Given the description of an element on the screen output the (x, y) to click on. 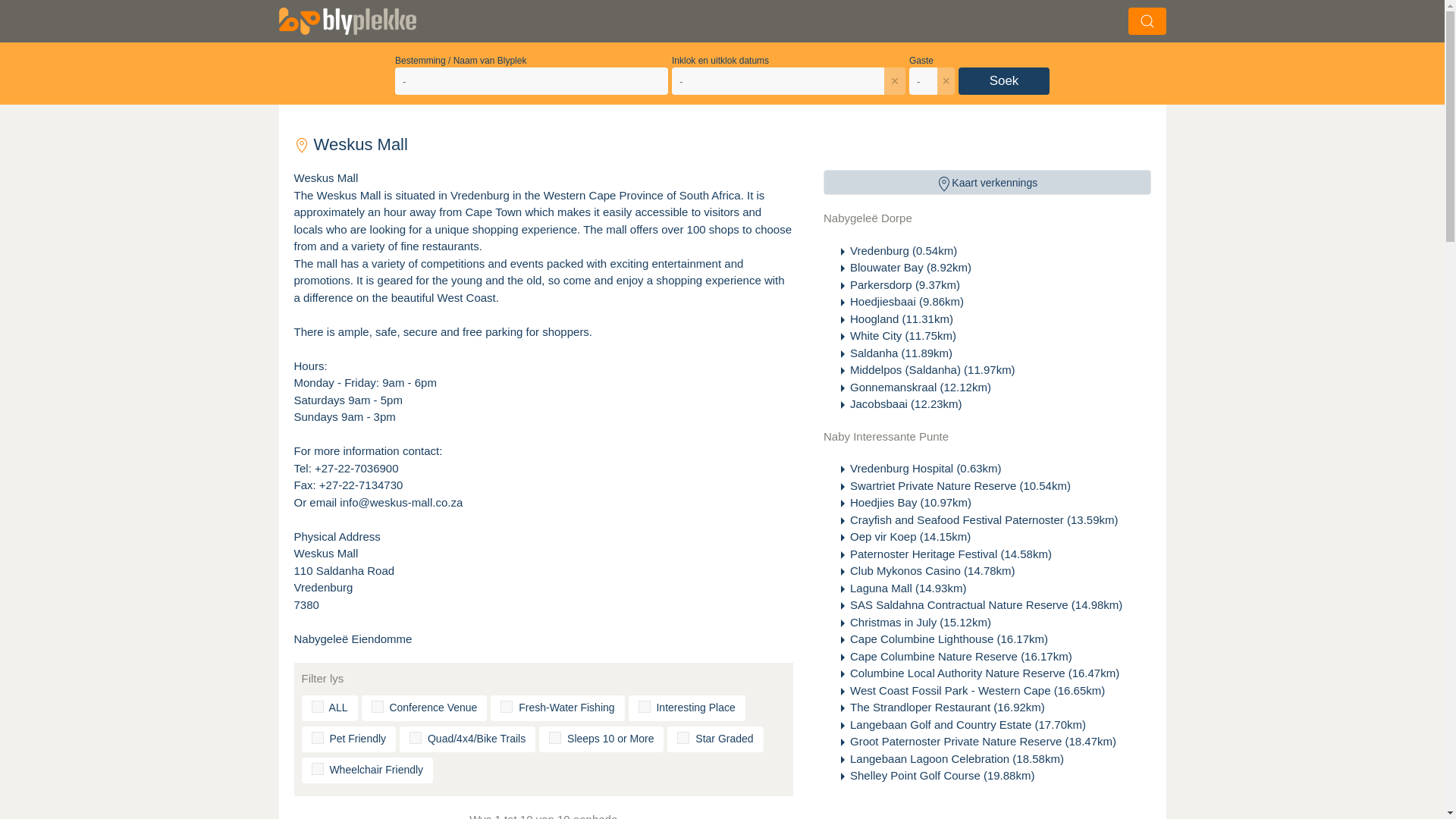
4x4-quad-bike-trails (415, 737)
conference-venues (377, 706)
wheelchair-friendly (317, 768)
fresh-water-fishing (506, 706)
Soek (1003, 81)
interesting-place (644, 706)
on (317, 706)
Kaart verkennings (987, 181)
Bly Plekke (362, 21)
pets-allowed (317, 737)
sleeps-10-or-more (554, 737)
star-graded (682, 737)
